Given the description of an element on the screen output the (x, y) to click on. 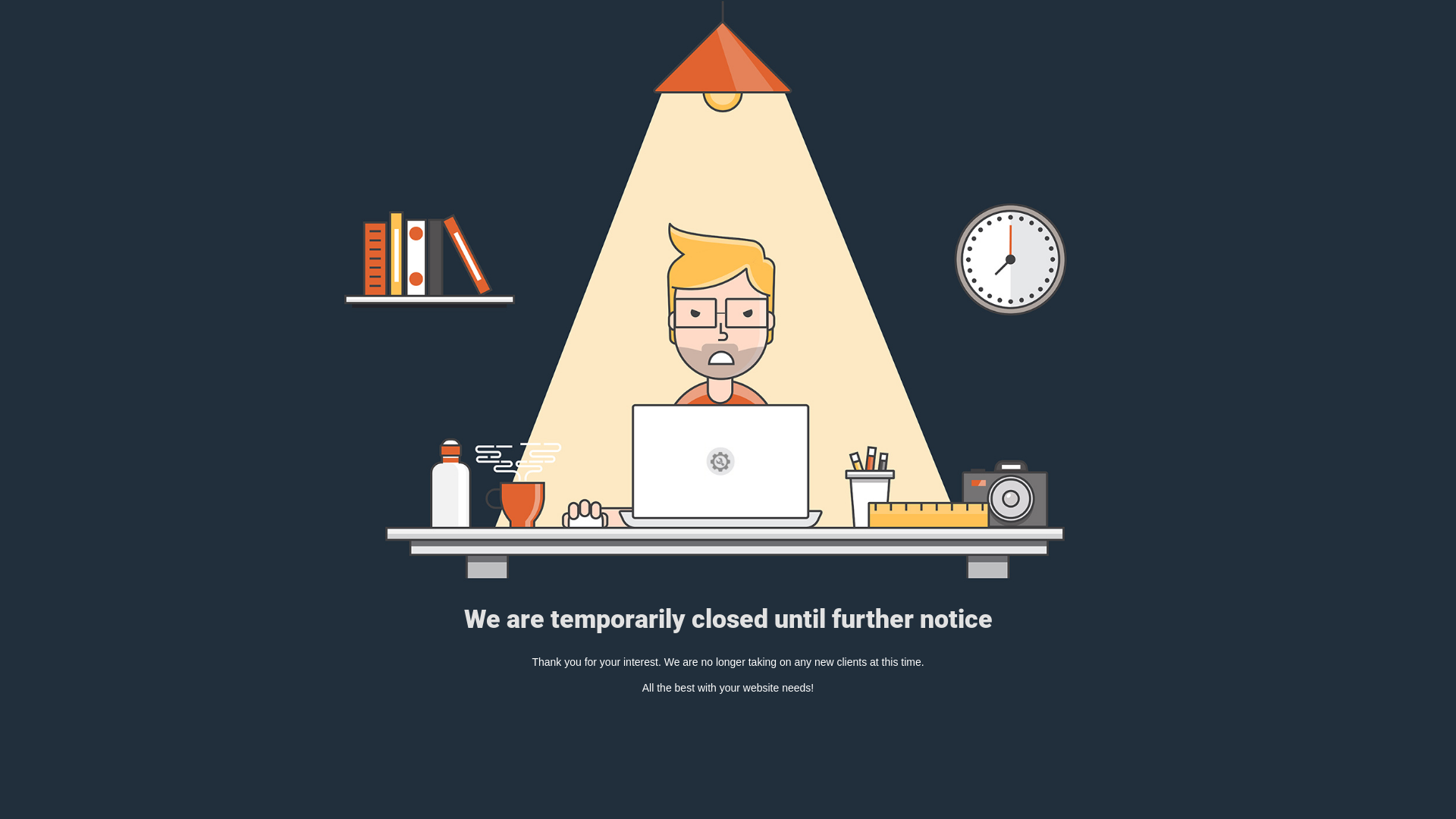
Mad Designer at work in the dark Element type: hover (727, 291)
